Given the description of an element on the screen output the (x, y) to click on. 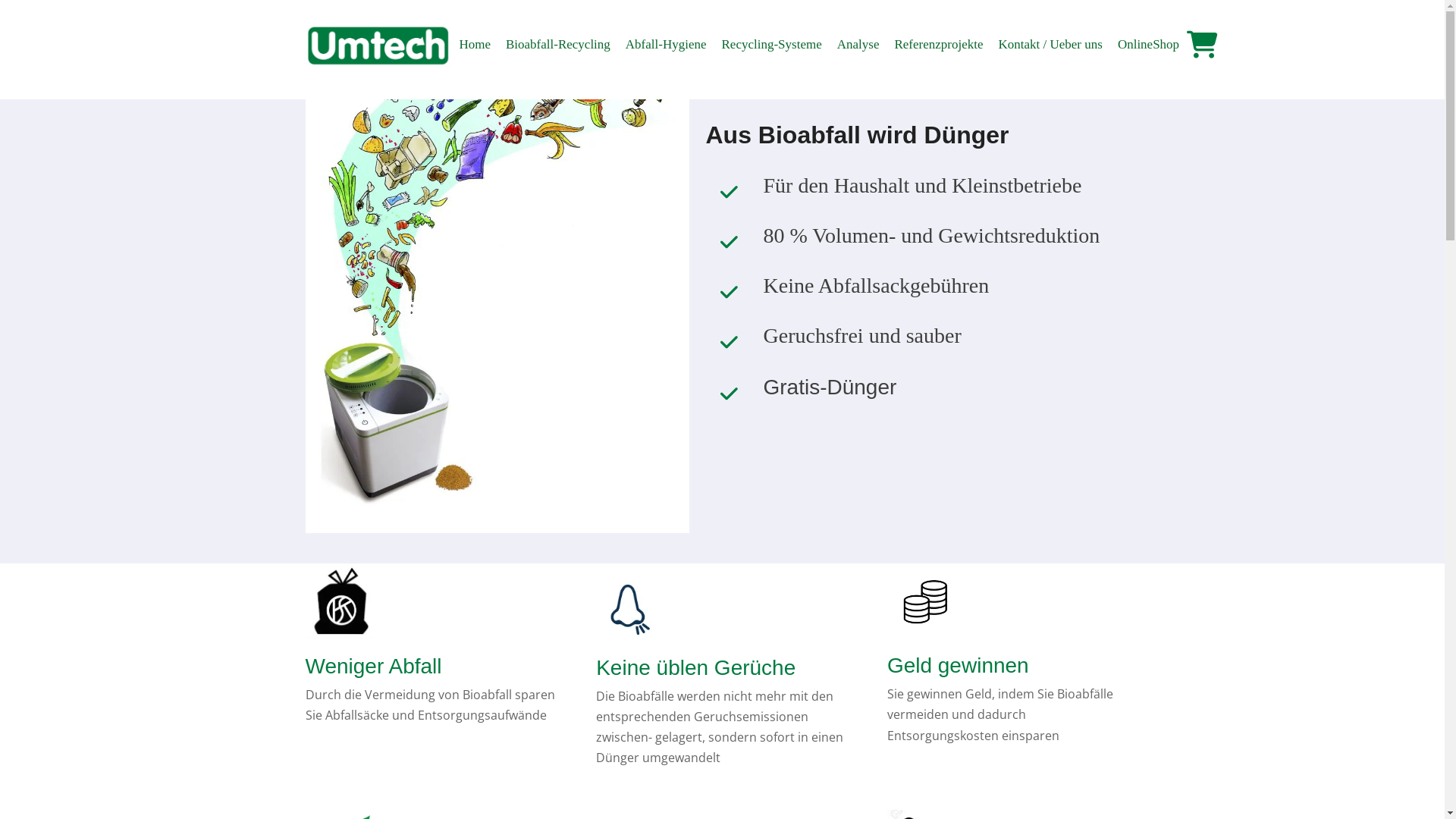
Bioabfall-Recycling Element type: text (558, 44)
Home Element type: text (474, 44)
Abfall-Hygiene Element type: text (666, 44)
Recycling-Systeme Element type: text (771, 44)
OnlineShop Element type: text (1148, 44)
Kontakt / Ueber uns Element type: text (1049, 44)
Referenzprojekte Element type: text (938, 44)
Analyse Element type: text (858, 44)
